Given the description of an element on the screen output the (x, y) to click on. 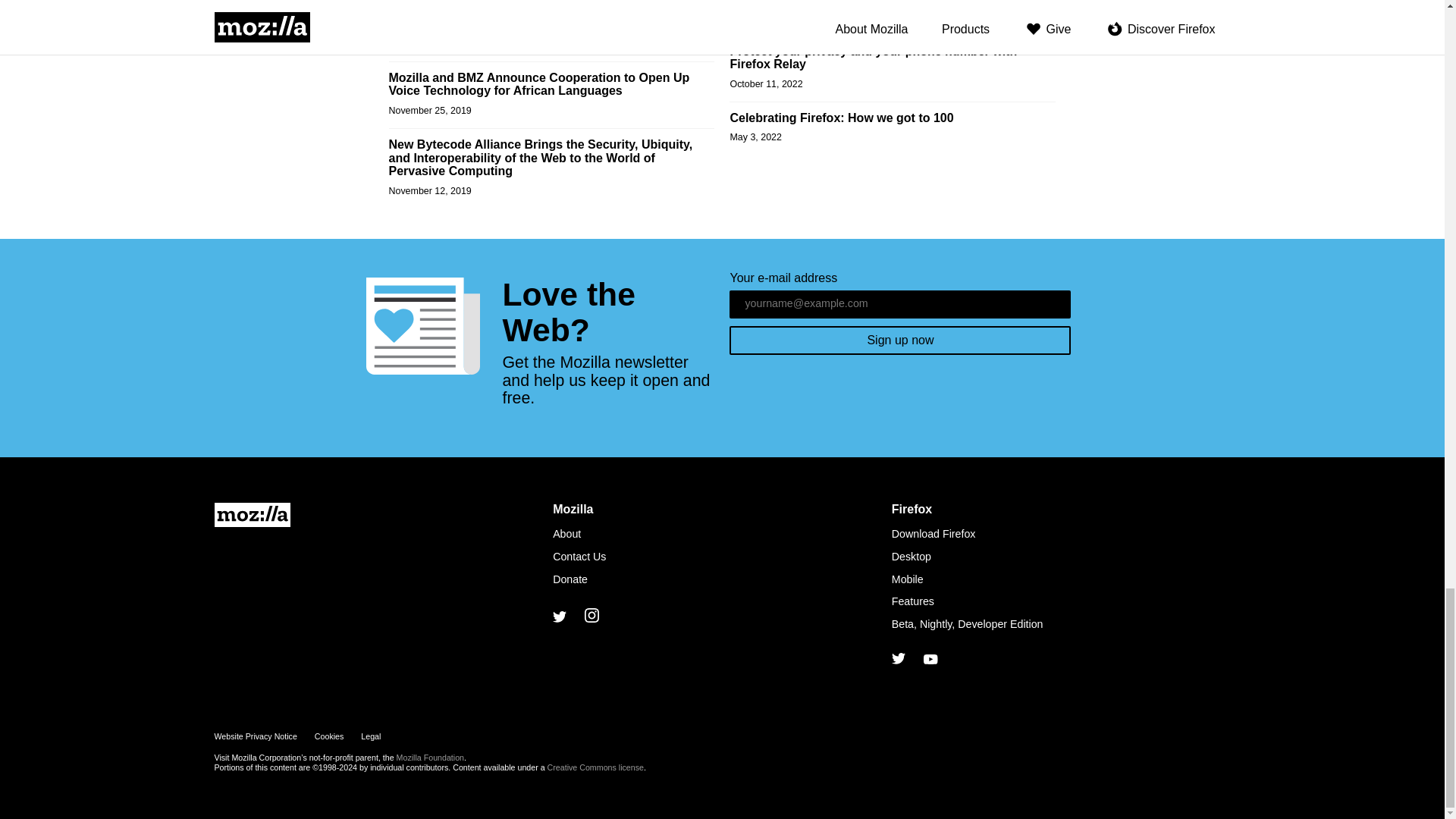
Sign up now (899, 339)
Celebrating Firefox: How we got to 100 (841, 117)
